Given the description of an element on the screen output the (x, y) to click on. 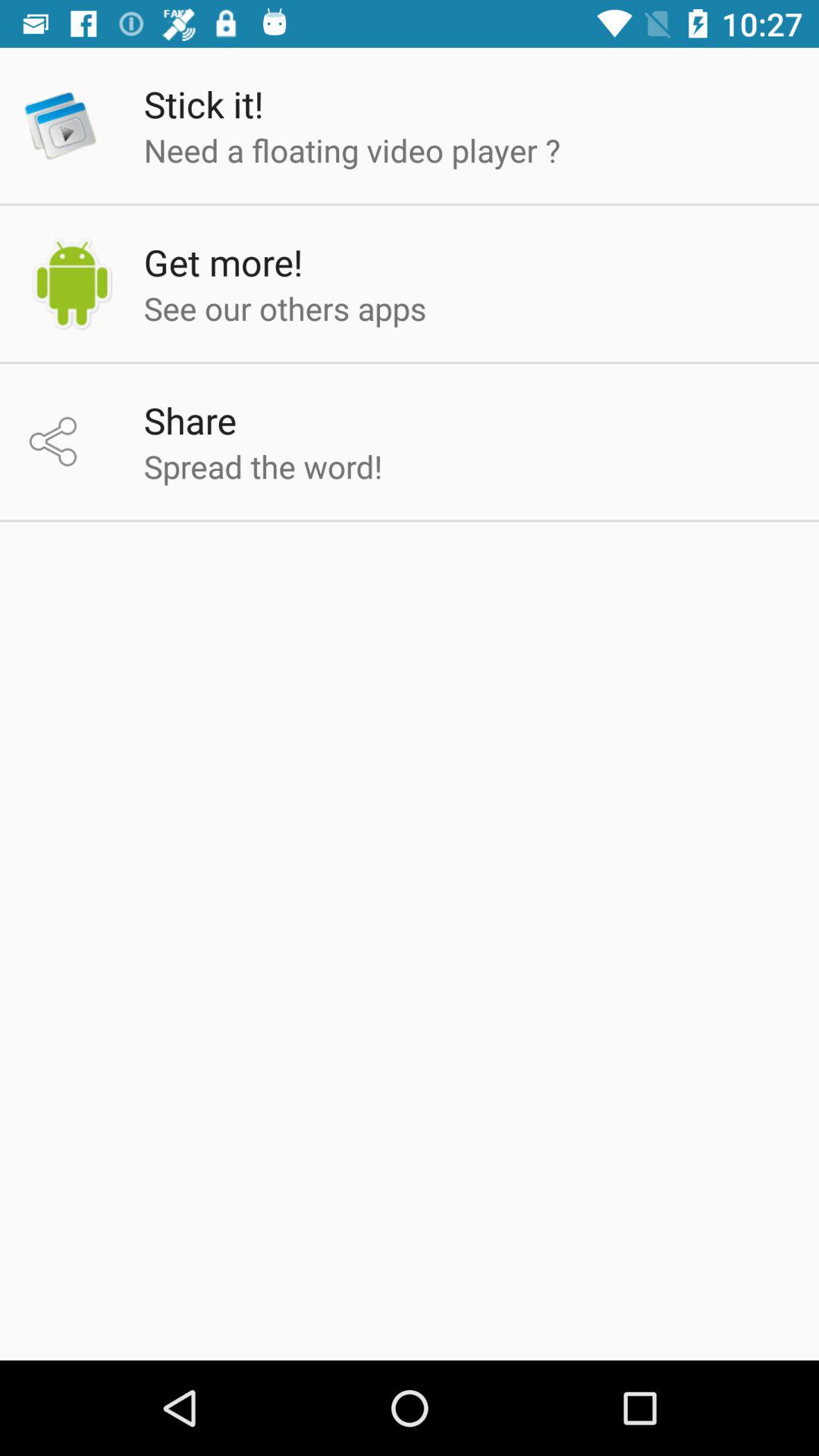
flip to spread the word! (262, 465)
